Given the description of an element on the screen output the (x, y) to click on. 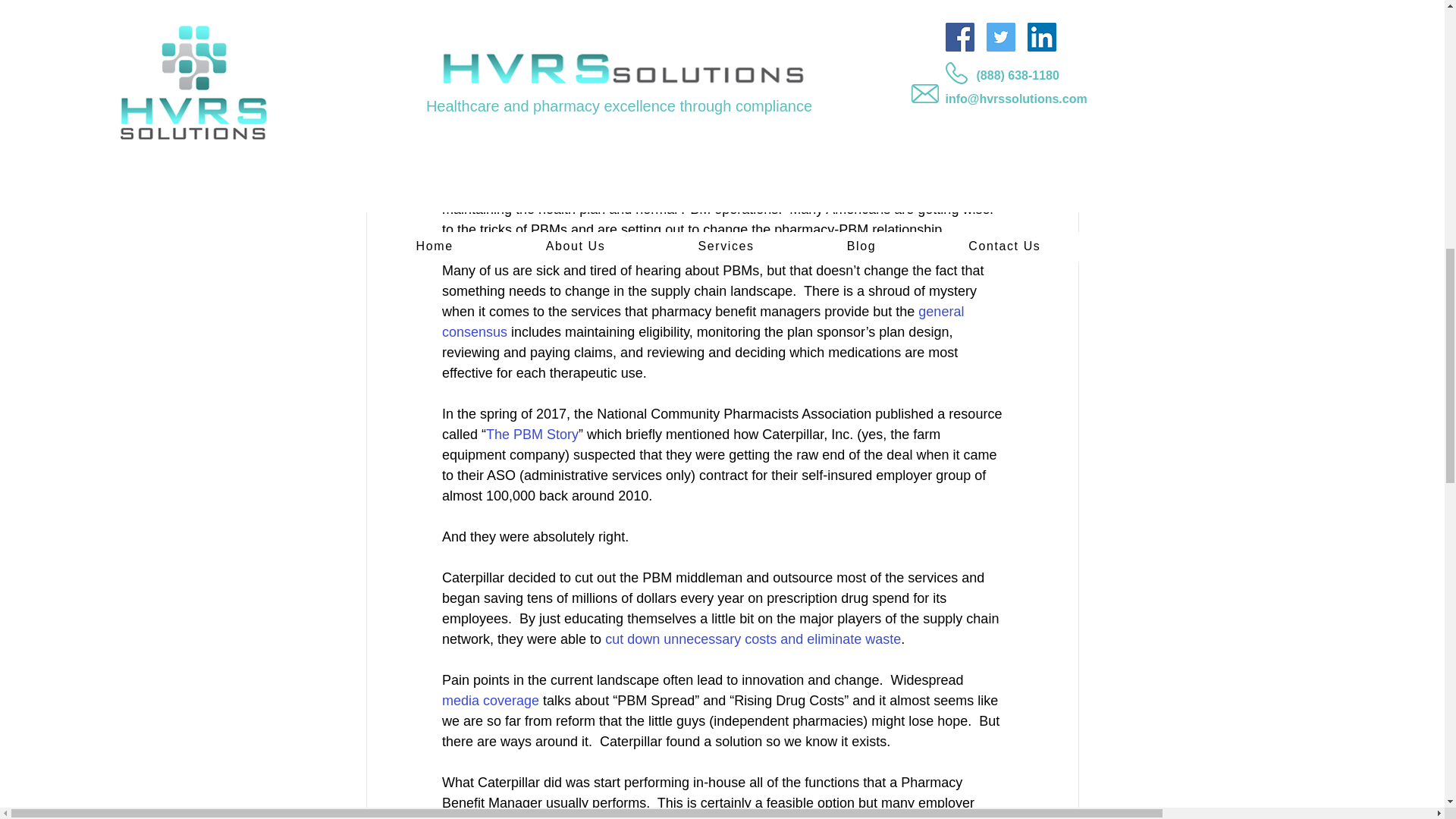
general consensus (703, 321)
cut down unnecessary costs and eliminate waste (753, 639)
media coverage (489, 700)
The PBM Story (532, 434)
